Given the description of an element on the screen output the (x, y) to click on. 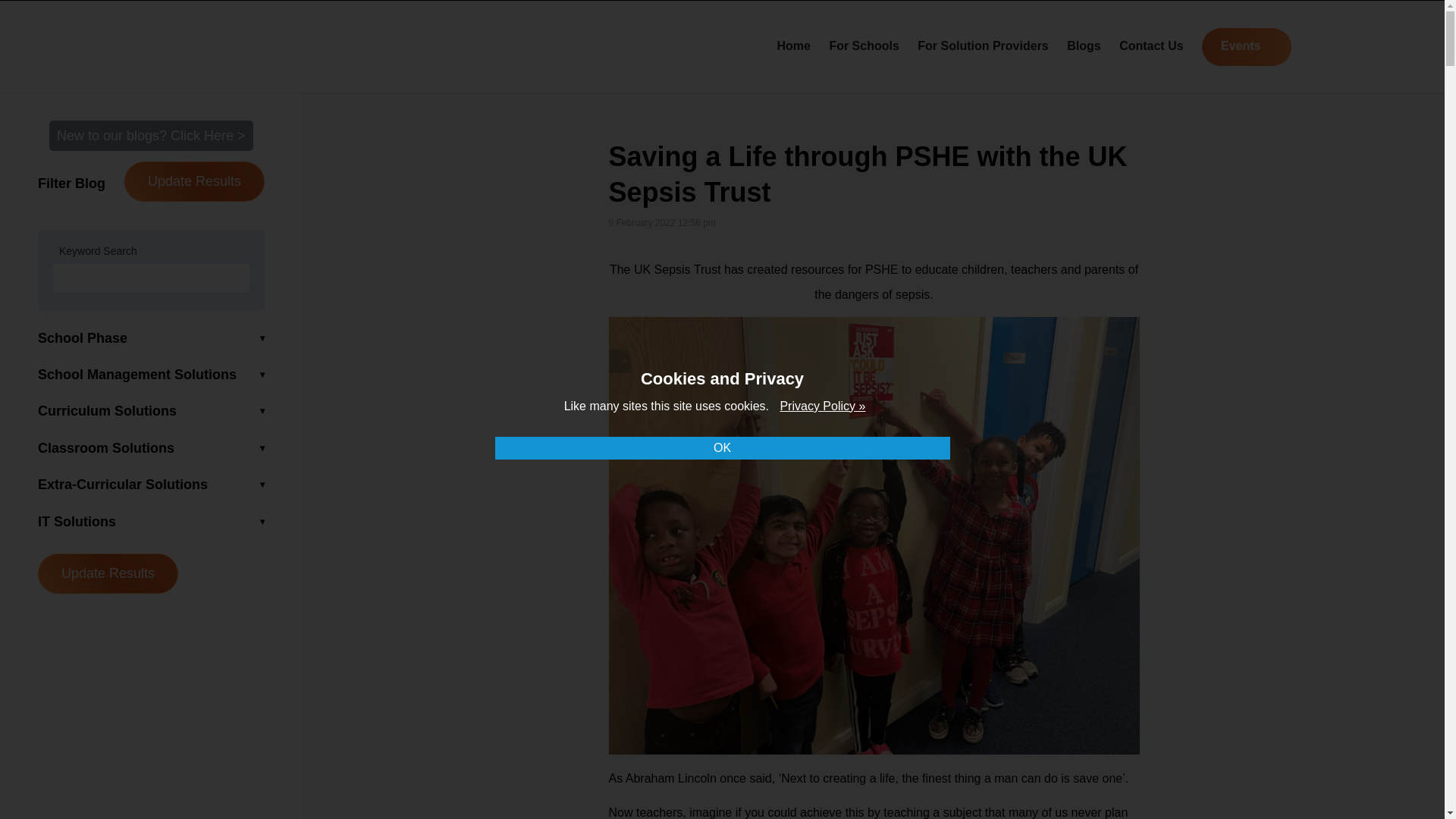
Home (792, 46)
Update Results (193, 181)
Blogs (1083, 46)
Nexus Education (213, 43)
For Solution Providers (982, 46)
For Schools (863, 46)
Events (1246, 46)
Cookie Notice (821, 405)
Update Results (107, 573)
Contact Us (1151, 46)
